Given the description of an element on the screen output the (x, y) to click on. 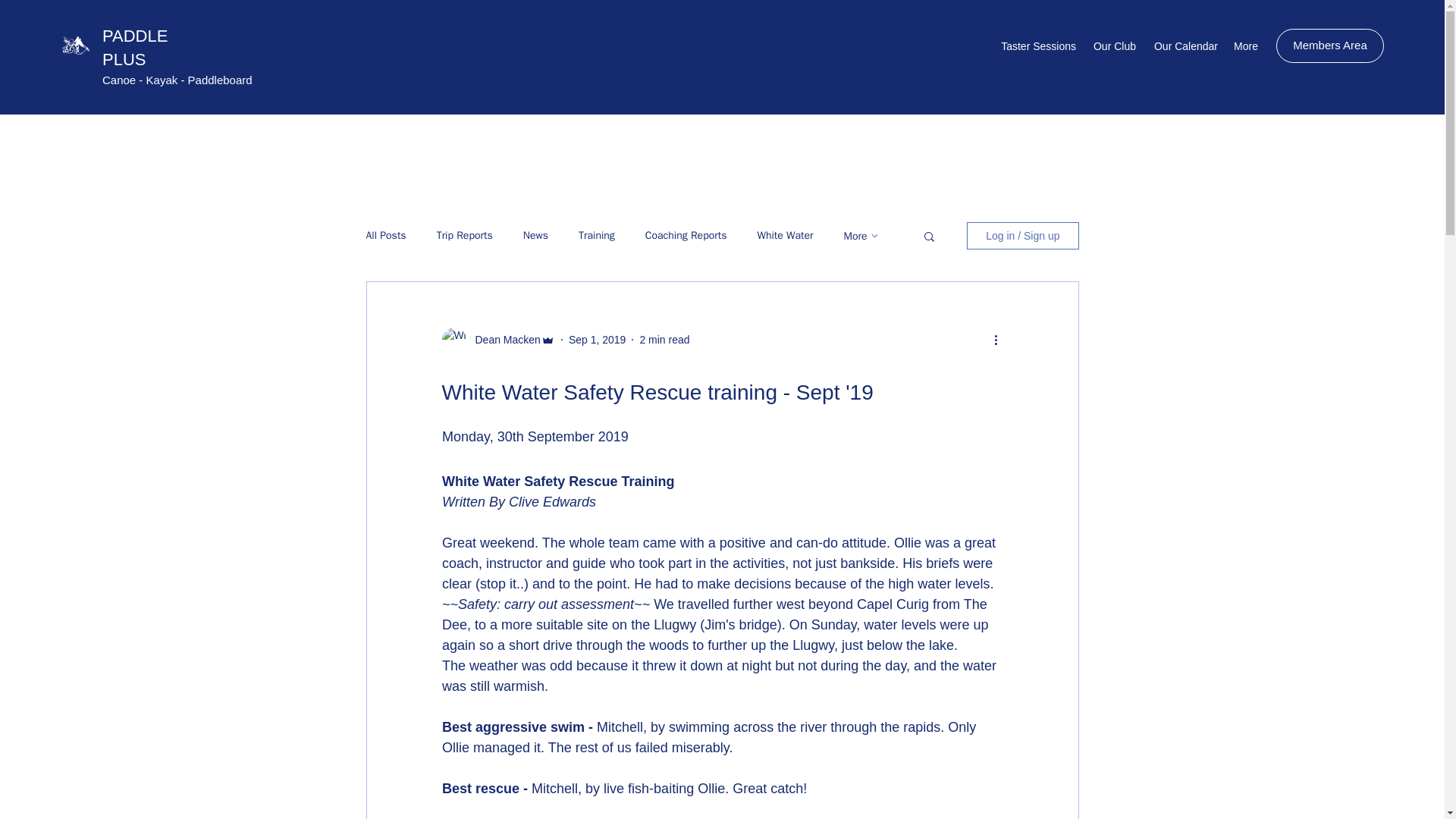
All Posts (385, 235)
2 min read (663, 339)
Sep 1, 2019 (597, 339)
White Water (784, 235)
Taster Sessions (1037, 46)
Our Calendar (1183, 46)
Trip Reports (464, 235)
Members Area (1330, 45)
Coaching Reports (685, 235)
News (535, 235)
Training (596, 235)
PADDLEPLUS (134, 47)
Our Club (1112, 46)
Dean Macken (502, 340)
